Given the description of an element on the screen output the (x, y) to click on. 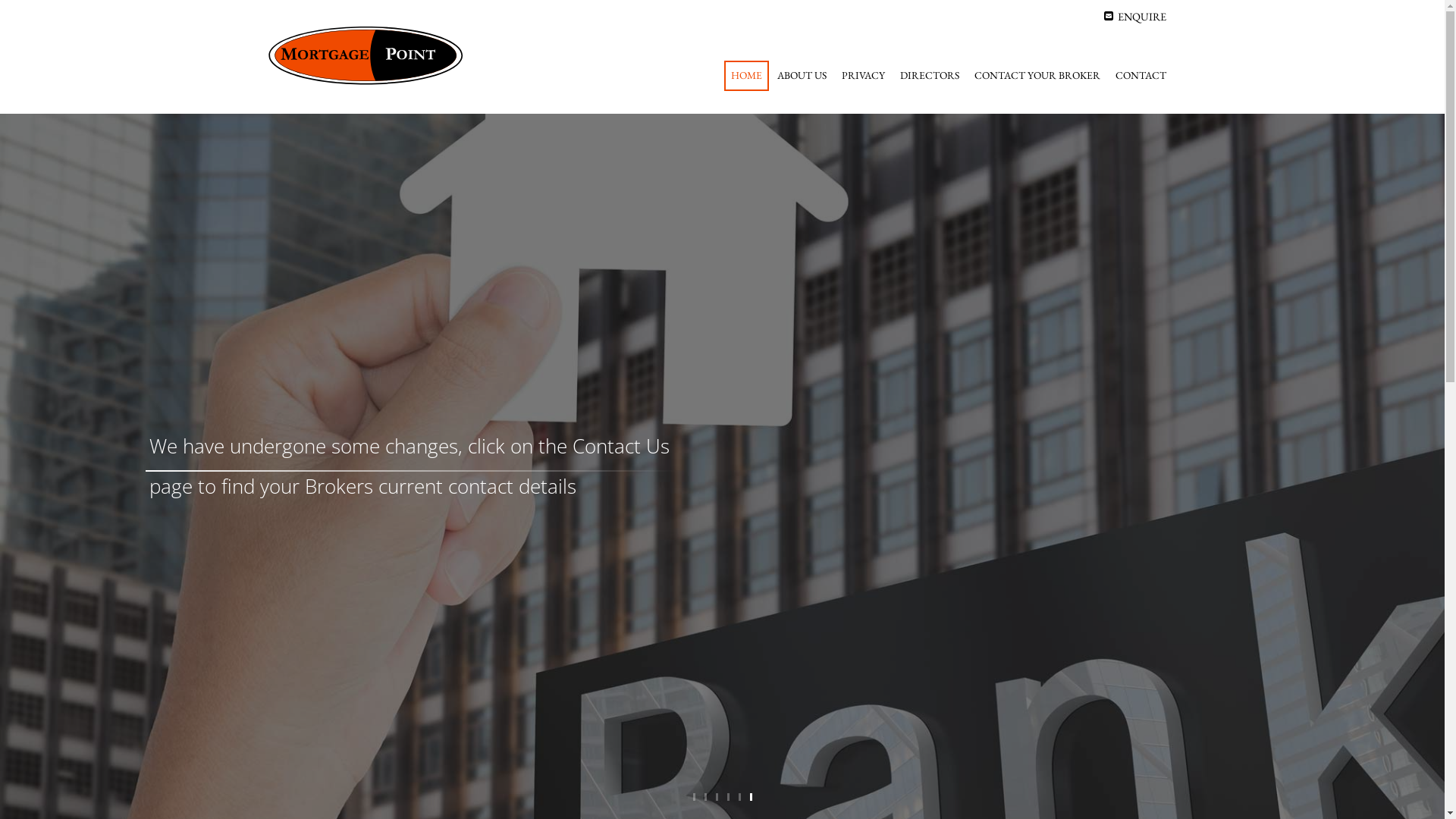
PRIVACY Element type: text (862, 75)
HOME Element type: text (745, 75)
CONTACT Element type: text (1140, 75)
CONTACT YOUR BROKER Element type: text (1037, 75)
ENQUIRE Element type: text (1134, 15)
DIRECTORS Element type: text (929, 75)
ABOUT US Element type: text (801, 75)
